Given the description of an element on the screen output the (x, y) to click on. 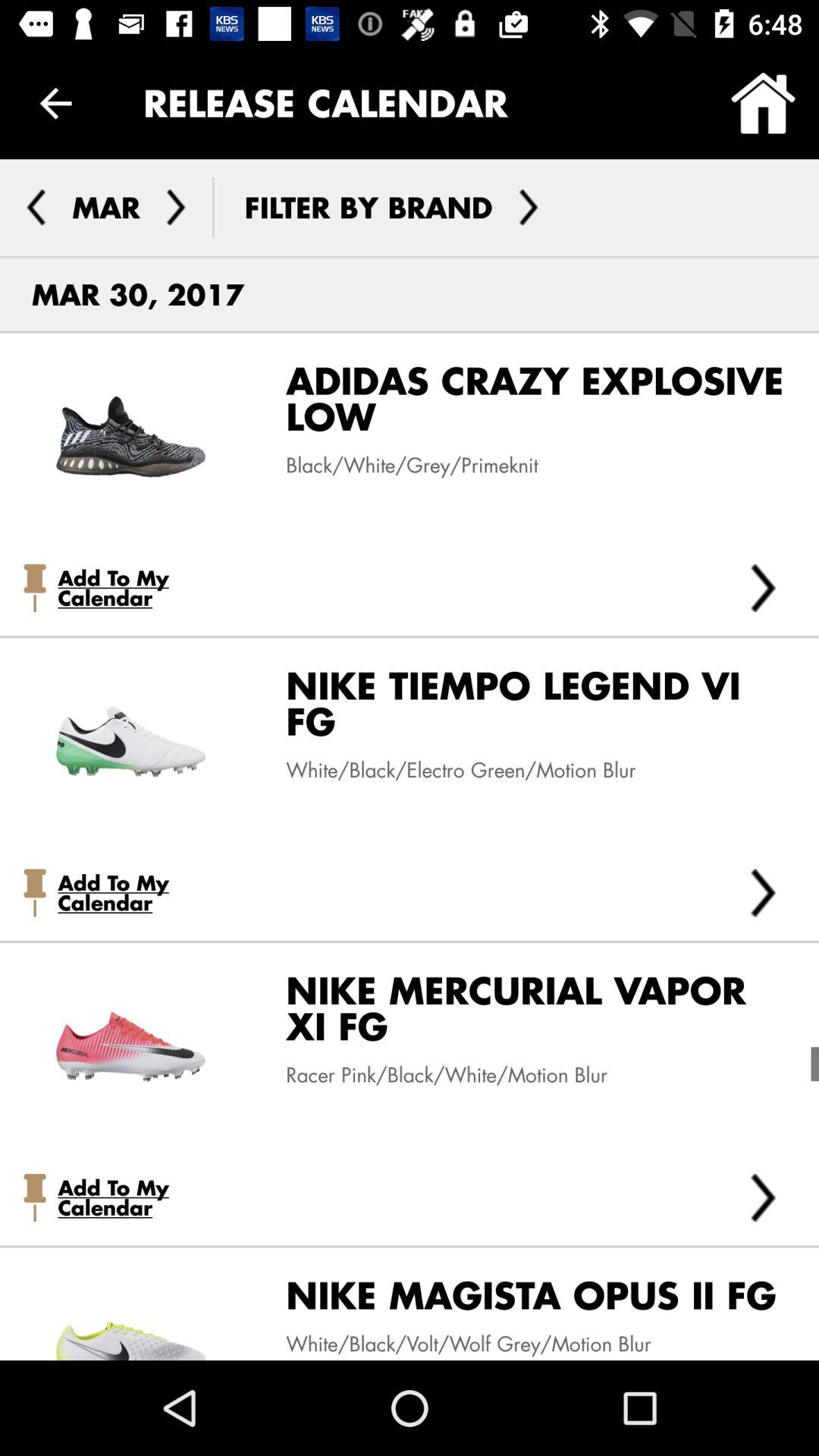
choose the icon next to add to my item (763, 892)
